Given the description of an element on the screen output the (x, y) to click on. 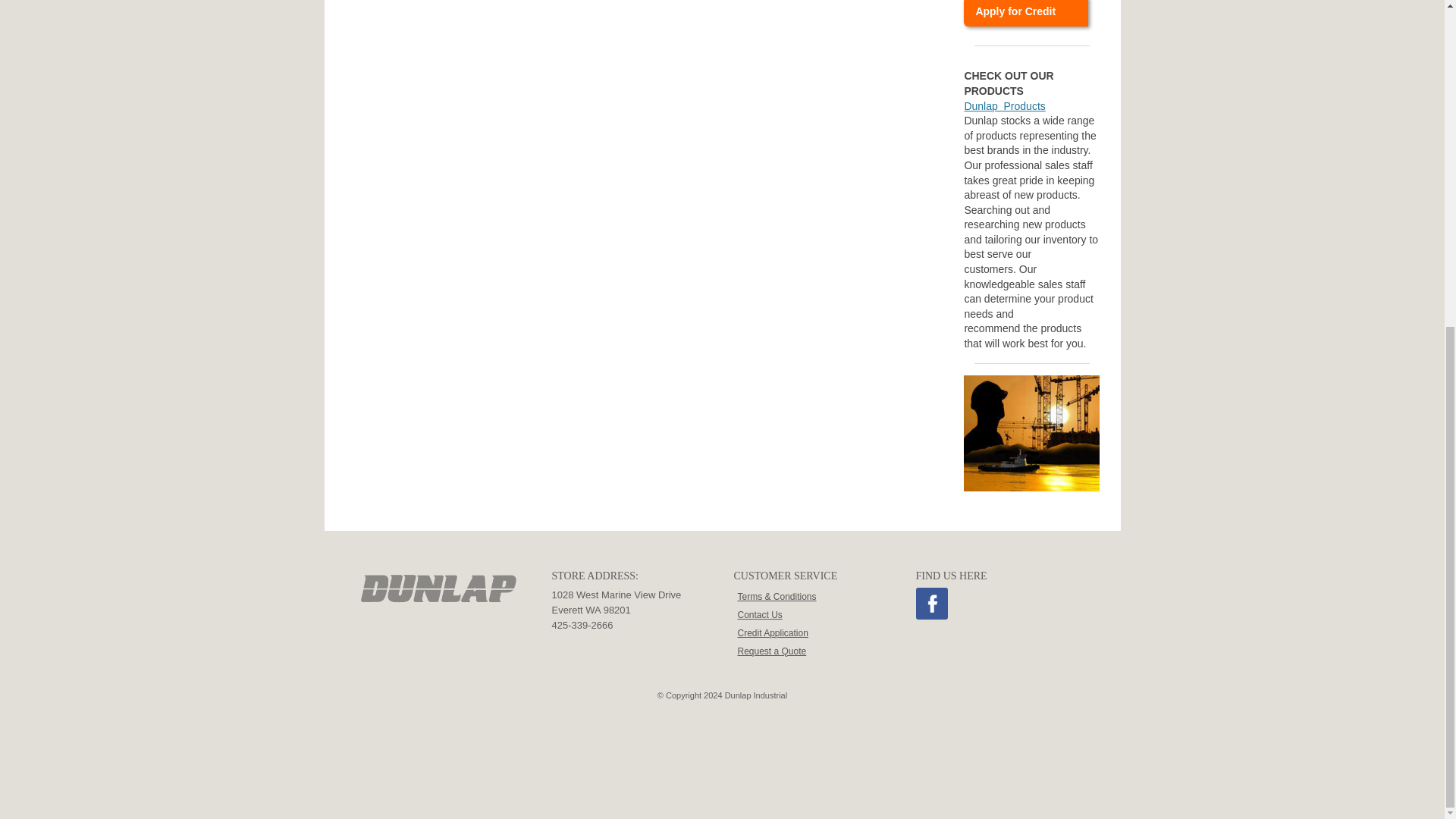
Facebook (931, 603)
Dunlap  Products (1004, 105)
Apply for Credit (1025, 13)
